Given the description of an element on the screen output the (x, y) to click on. 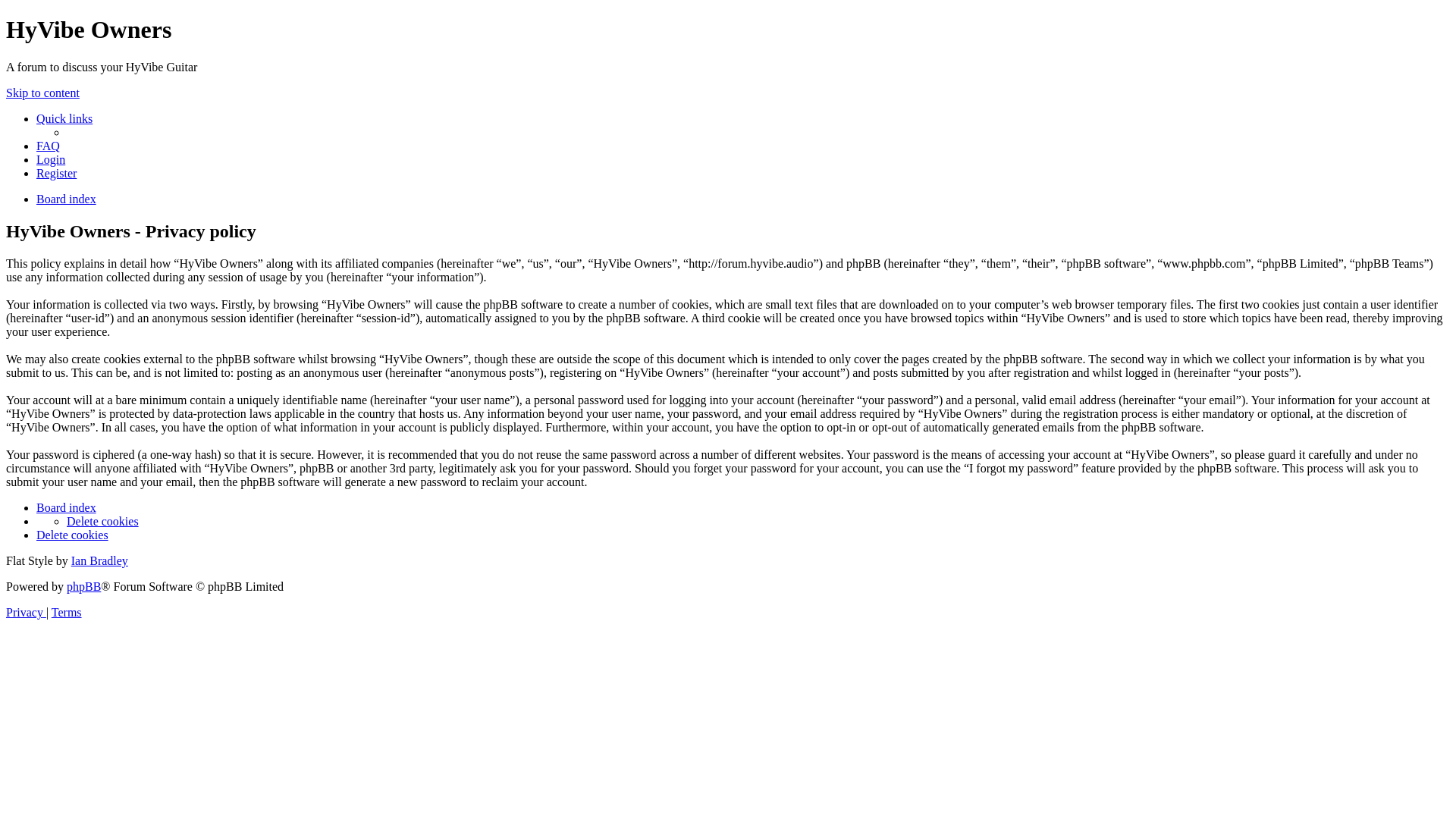
Delete cookies Element type: text (72, 534)
Login Element type: text (50, 159)
Privacy Element type: text (26, 611)
phpBB Element type: text (83, 586)
Board index Element type: text (66, 507)
Terms Element type: text (66, 611)
Board index Element type: text (66, 198)
Quick links Element type: text (64, 118)
Skip to content Element type: text (42, 92)
FAQ Element type: text (47, 145)
Ian Bradley Element type: text (99, 560)
Register Element type: text (56, 172)
Delete cookies Element type: text (102, 520)
